Given the description of an element on the screen output the (x, y) to click on. 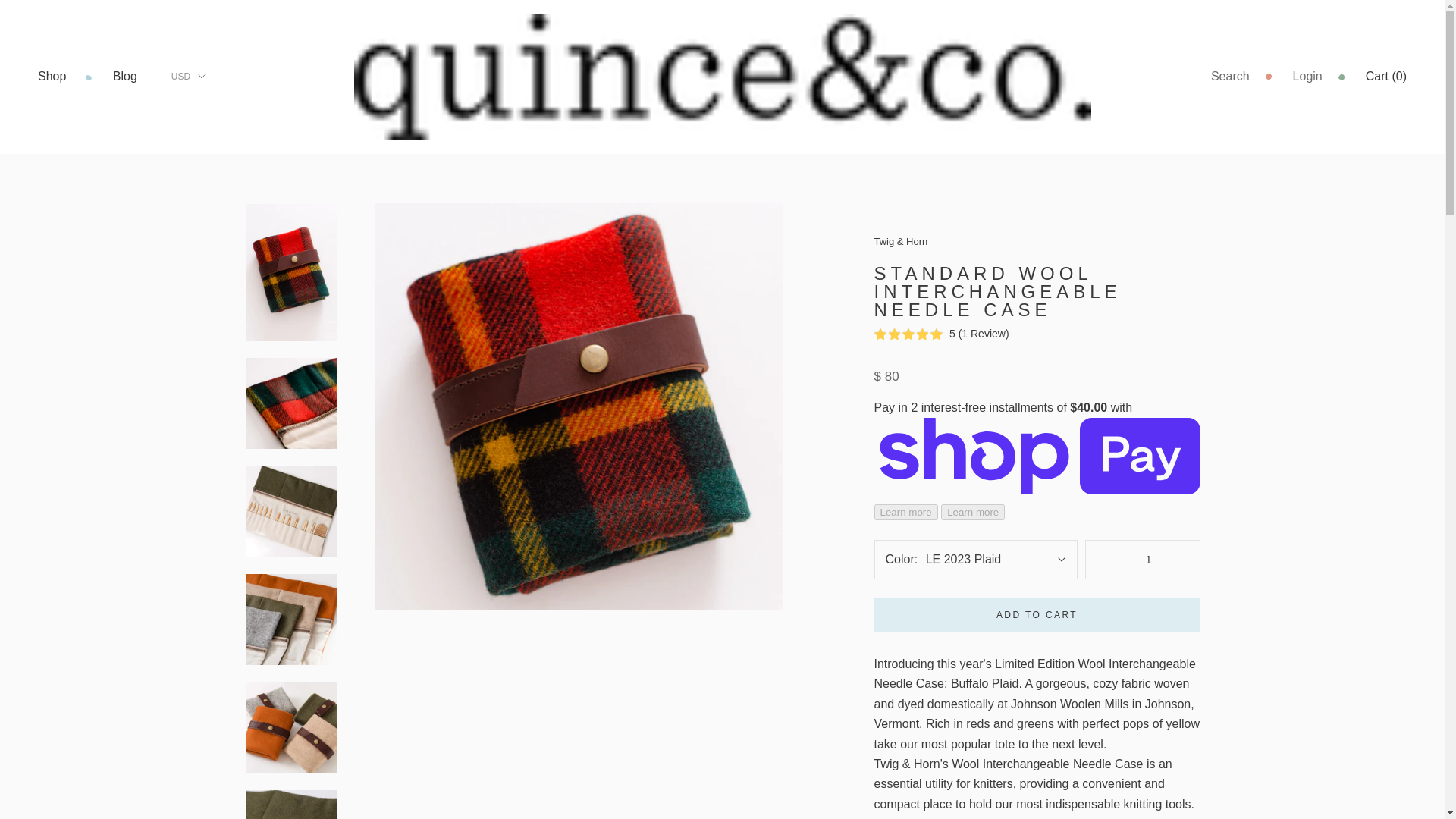
Currency selector (188, 76)
1 (1148, 559)
